Given the description of an element on the screen output the (x, y) to click on. 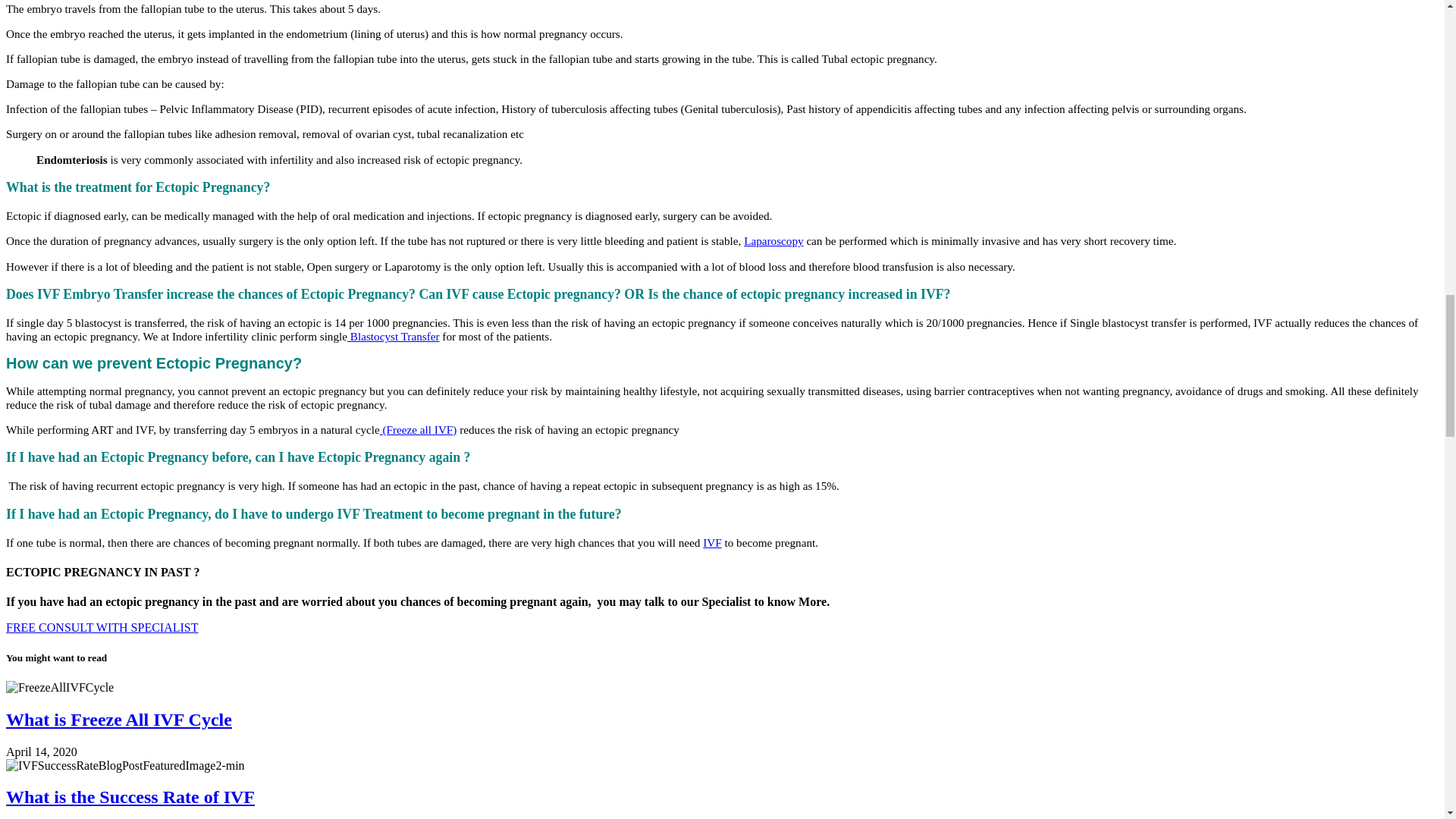
What is the Success Rate of IVF (129, 796)
What is Freeze All IVF Cycle (118, 719)
